Given the description of an element on the screen output the (x, y) to click on. 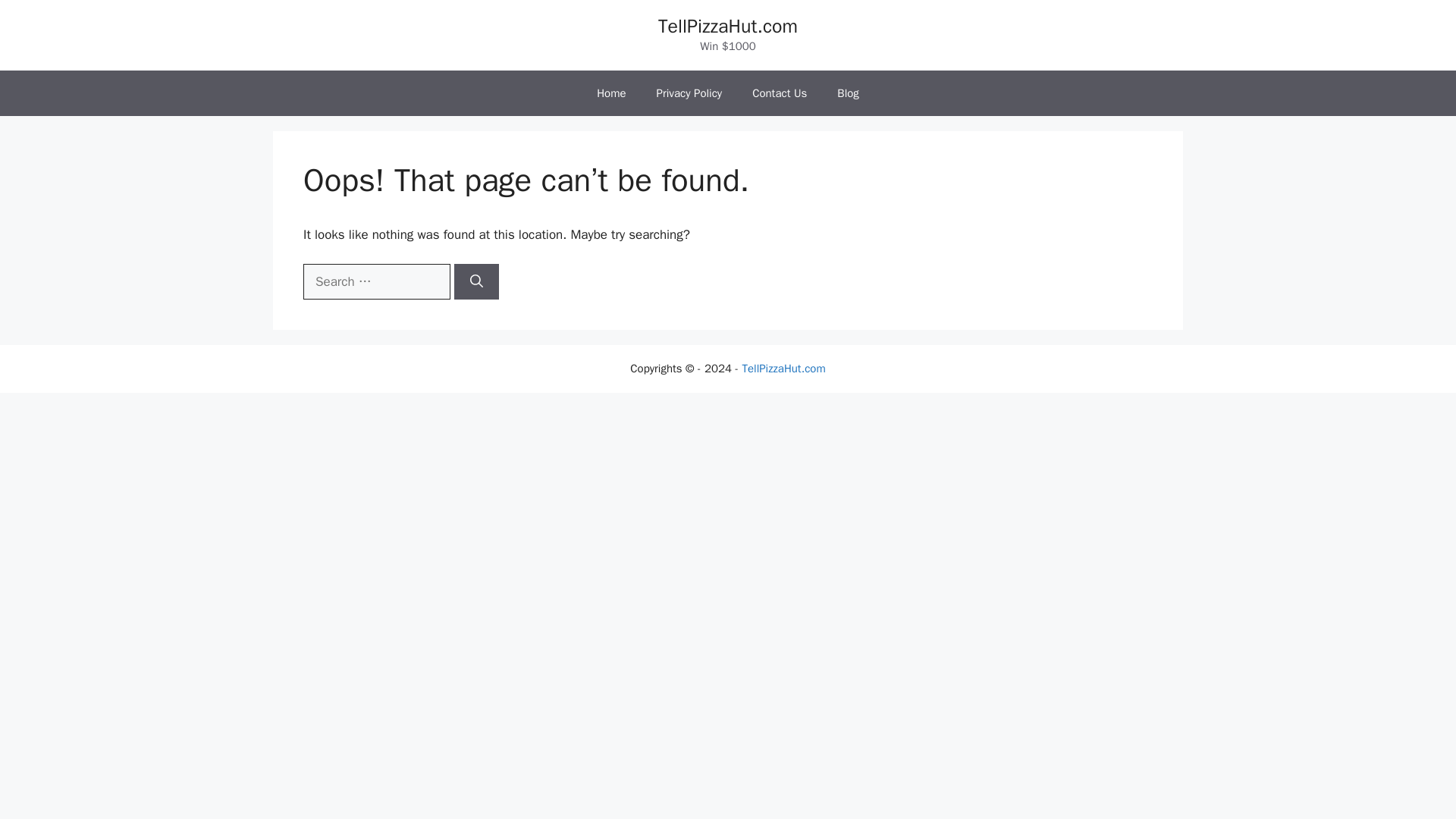
Home (610, 92)
Blog (847, 92)
TellPizzaHut.com (783, 368)
TellPizzaHut.com (727, 25)
Search for: (375, 281)
Contact Us (779, 92)
Privacy Policy (690, 92)
